Given the description of an element on the screen output the (x, y) to click on. 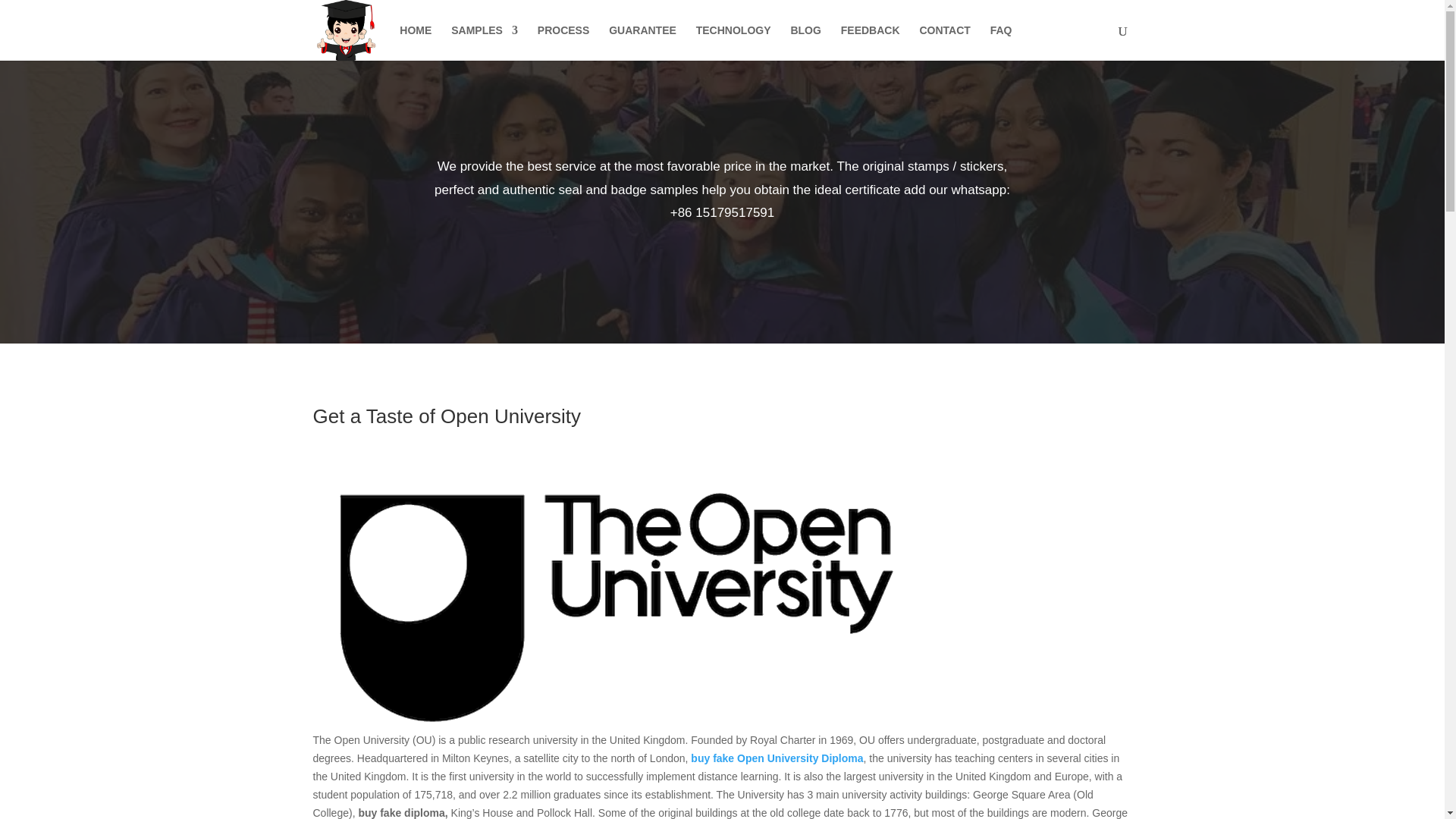
HOME (414, 42)
GUARANTEE (642, 42)
SAMPLES (484, 42)
CONTACT (943, 42)
PROCESS (563, 42)
TECHNOLOGY (733, 42)
FEEDBACK (870, 42)
